Given the description of an element on the screen output the (x, y) to click on. 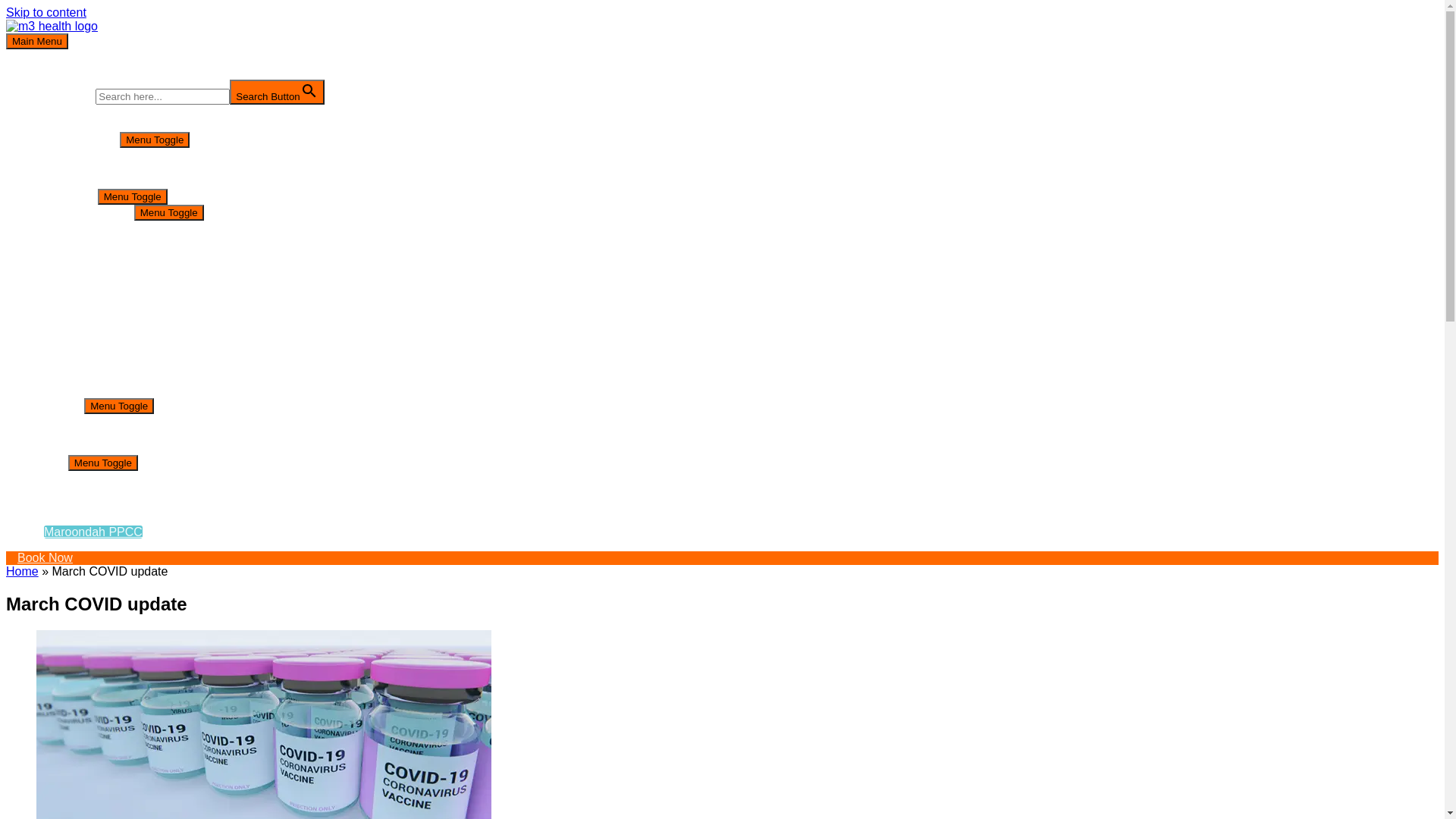
Menu Toggle Element type: text (132, 196)
Home Element type: text (22, 570)
ABOUT Element type: text (57, 124)
FEES Element type: text (52, 461)
CLINICS Element type: text (60, 404)
Mole Mapping Element type: text (135, 349)
M3 Health Hobsons Bay Element type: text (131, 490)
M3 Health Hobsons Bay (Spotswood) Element type: text (167, 433)
75+ Health Assessments Element type: text (164, 267)
CONTACT Element type: text (65, 517)
Book Now Element type: text (722, 557)
M3 Health Bayswater Element type: text (124, 420)
Maroondah PPCC Element type: text (92, 531)
HOME Element type: text (54, 110)
Main Menu Element type: text (37, 41)
Maroondah Priority Primary Care Centre Element type: text (174, 447)
M3 Health Bayswater Element type: text (124, 153)
M3 Health Bayswater Element type: text (124, 476)
Skin Checks Element type: text (130, 376)
Menu Toggle Element type: text (118, 406)
Intrauterine device Element type: text (147, 335)
Search Button Element type: text (276, 91)
Skip to content Element type: text (46, 12)
Menu Toggle Element type: text (168, 212)
FAQs Element type: text (51, 504)
GP Services Element type: text (100, 211)
Travel Vaccinations / Travel Clinic Element type: text (187, 390)
M3 Health Hobsons Bay Element type: text (131, 167)
Iron Infusions Element type: text (133, 322)
GP Care Plans Element type: text (137, 281)
BOOK ONLINE Element type: text (77, 138)
Menu Toggle Element type: text (154, 139)
Menu Toggle Element type: text (103, 462)
SERVICES Element type: text (66, 195)
Flu Vaccine Element type: text (128, 253)
Immunisations Element type: text (136, 294)
COVID Vaccine Element type: text (139, 240)
PAP Smears Element type: text (131, 363)
View All GP Services Element type: text (153, 226)
Contraceptive implant Element type: text (155, 308)
Maroondah Priority Primary Care Centre Element type: text (174, 181)
